Given the description of an element on the screen output the (x, y) to click on. 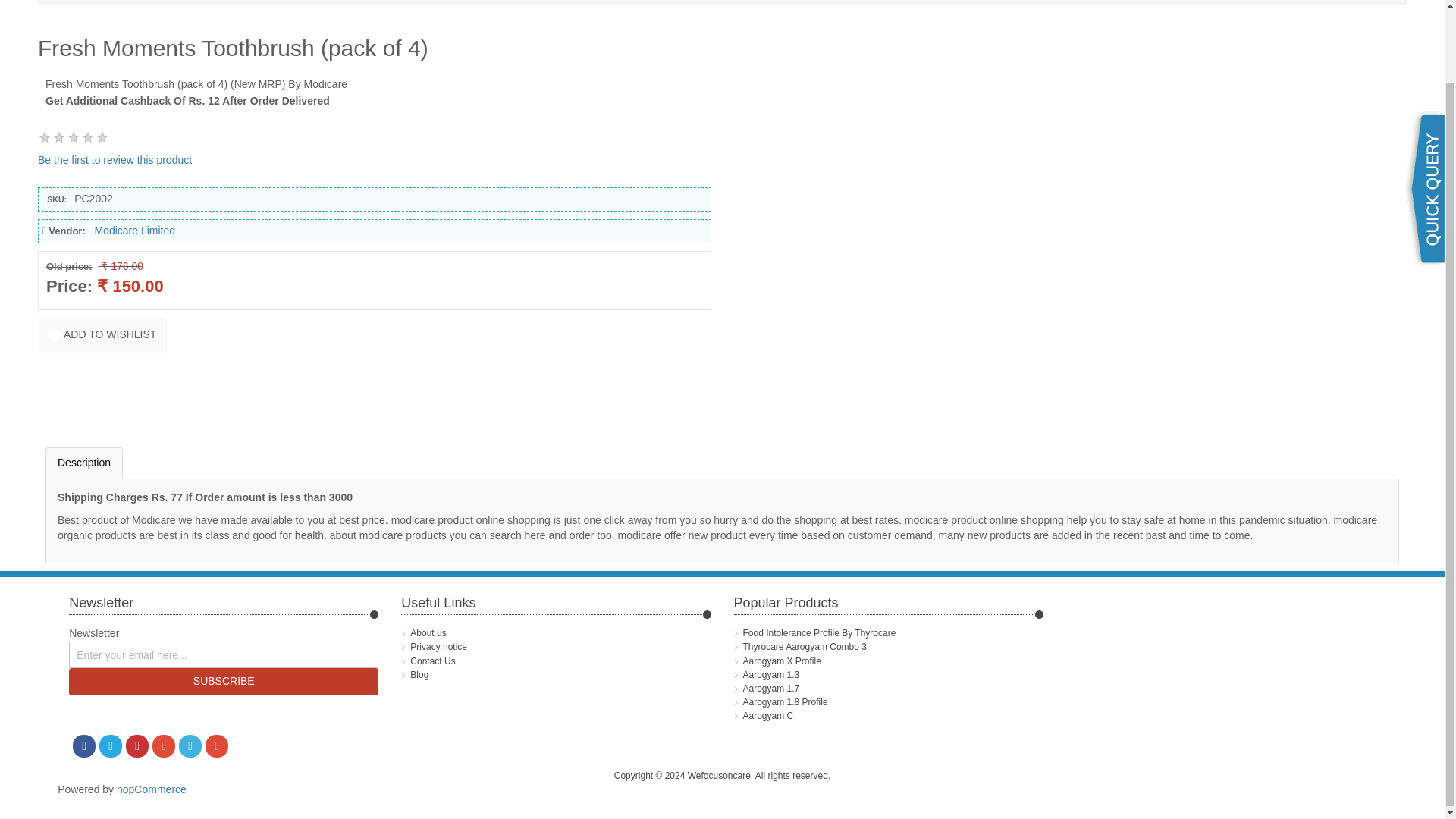
Modicare Limited (134, 230)
Be the first to review this product (114, 159)
Add to wishlist (102, 334)
Home (65, 2)
ModiCare (123, 2)
Subscribe (223, 681)
